Given the description of an element on the screen output the (x, y) to click on. 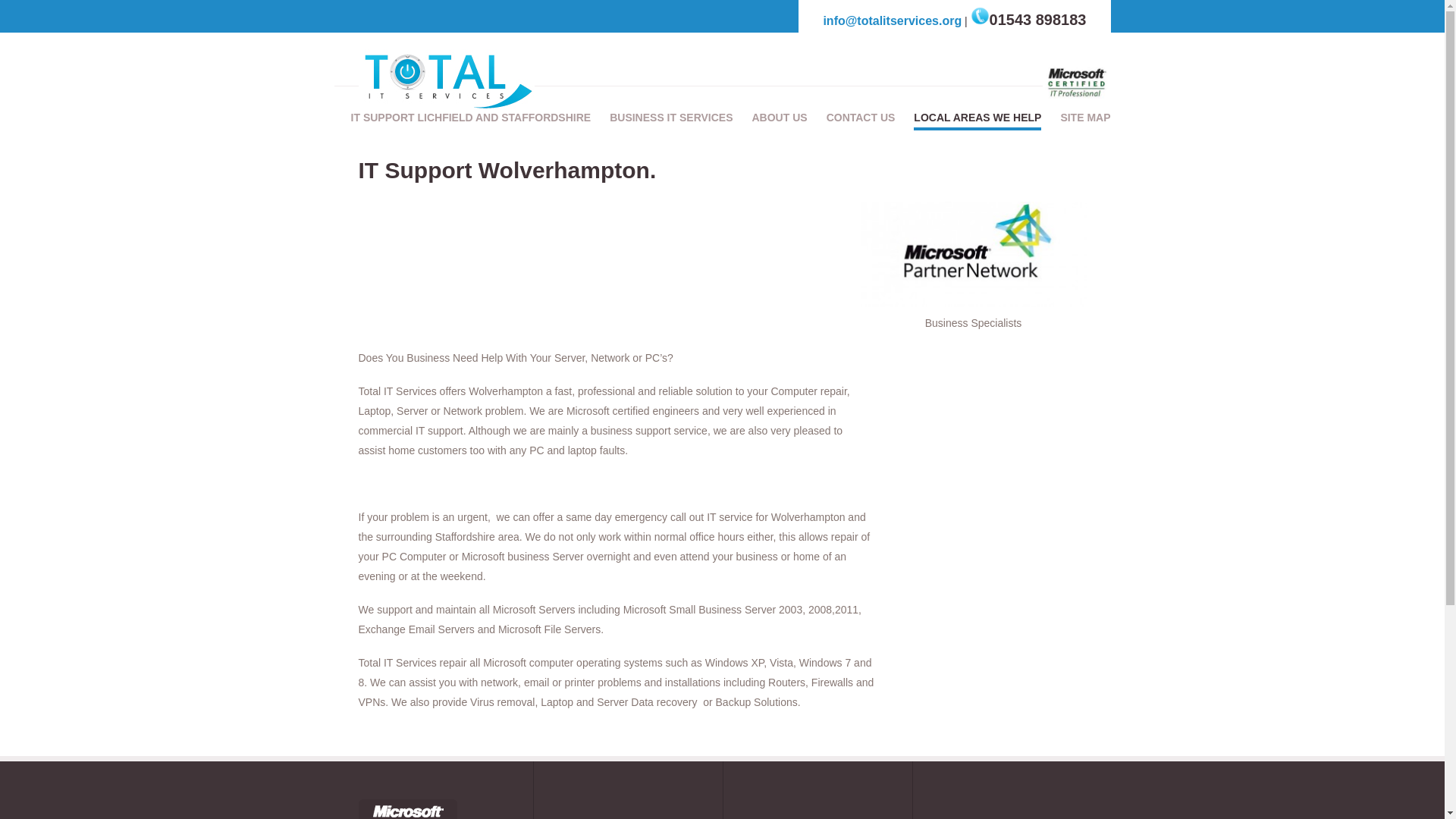
Computer Services and Repair Wolverhampton (973, 254)
IT SUPPORT LICHFIELD AND STAFFORDSHIRE (470, 117)
BUSINESS IT SERVICES (671, 117)
CONTACT US (861, 117)
SITE MAP (1084, 117)
ABOUT US (780, 117)
Microsoft Certified IT Professional (1075, 82)
LOCAL AREAS WE HELP (977, 119)
